Given the description of an element on the screen output the (x, y) to click on. 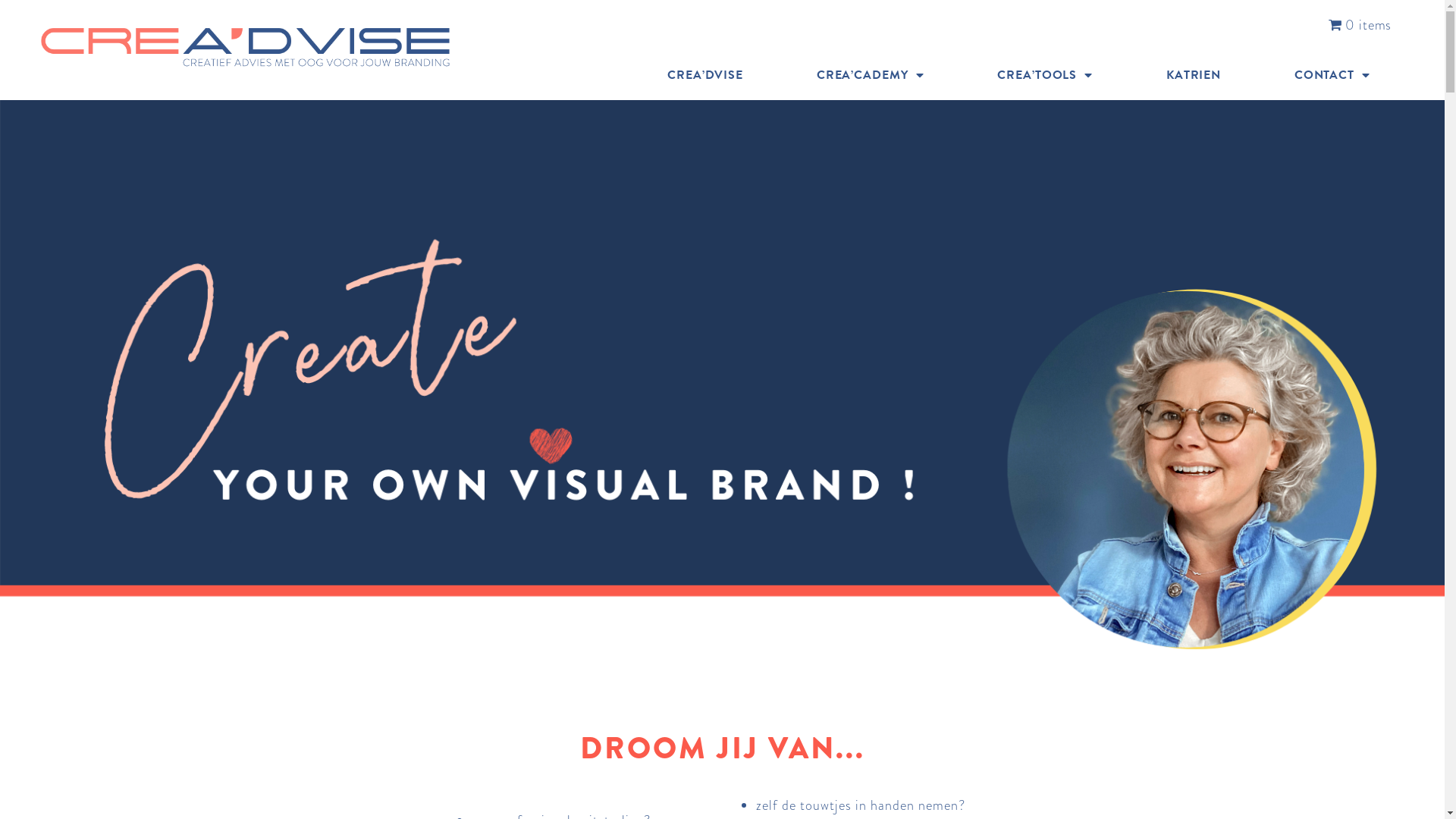
CONTACT Element type: text (1331, 74)
KATRIEN Element type: text (1193, 74)
0 items Element type: text (1360, 24)
